Given the description of an element on the screen output the (x, y) to click on. 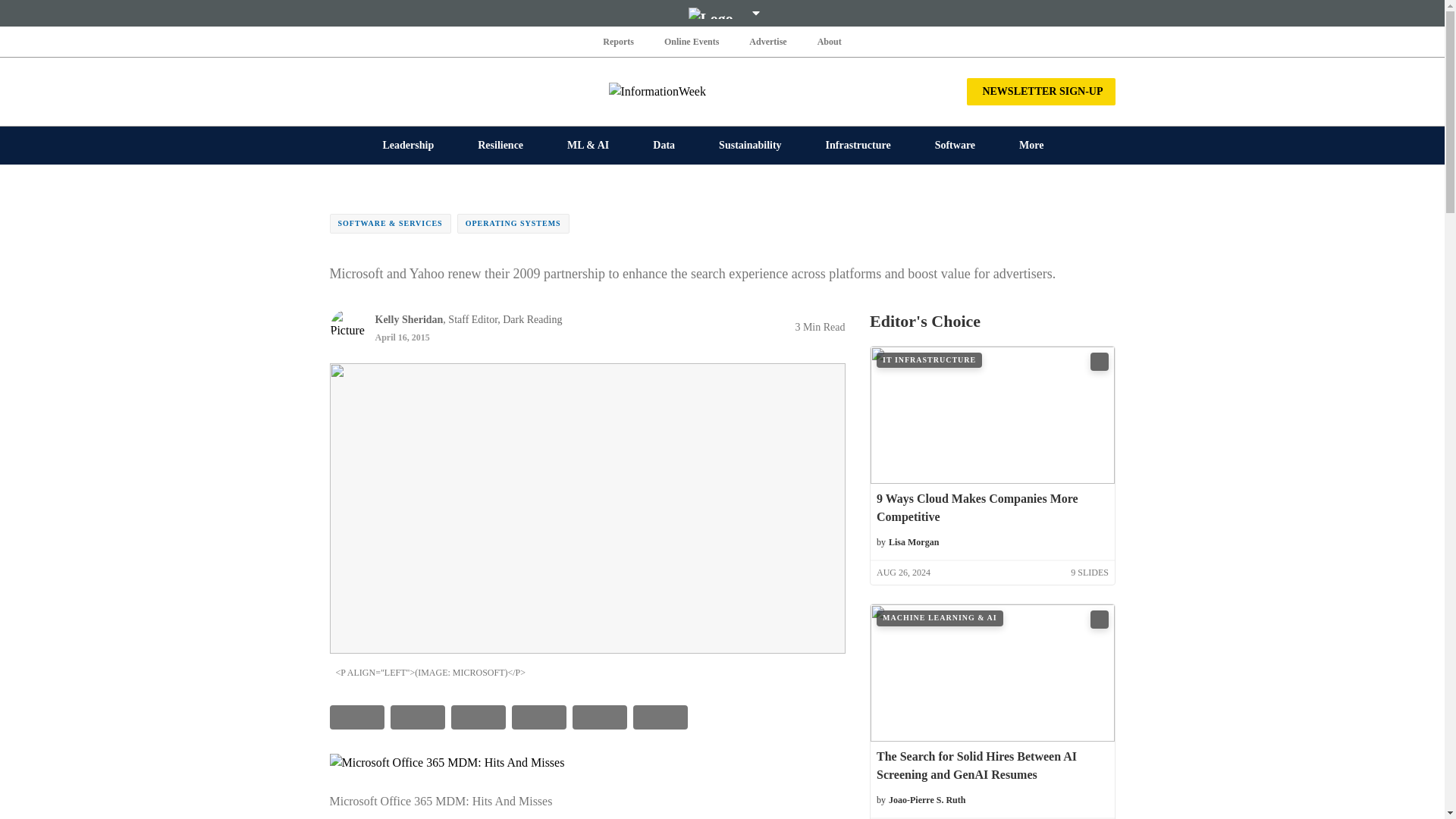
Advertise (767, 41)
Online Events (691, 41)
NEWSLETTER SIGN-UP (1040, 90)
InformationWeek (721, 91)
Reports (618, 41)
About (828, 41)
